Given the description of an element on the screen output the (x, y) to click on. 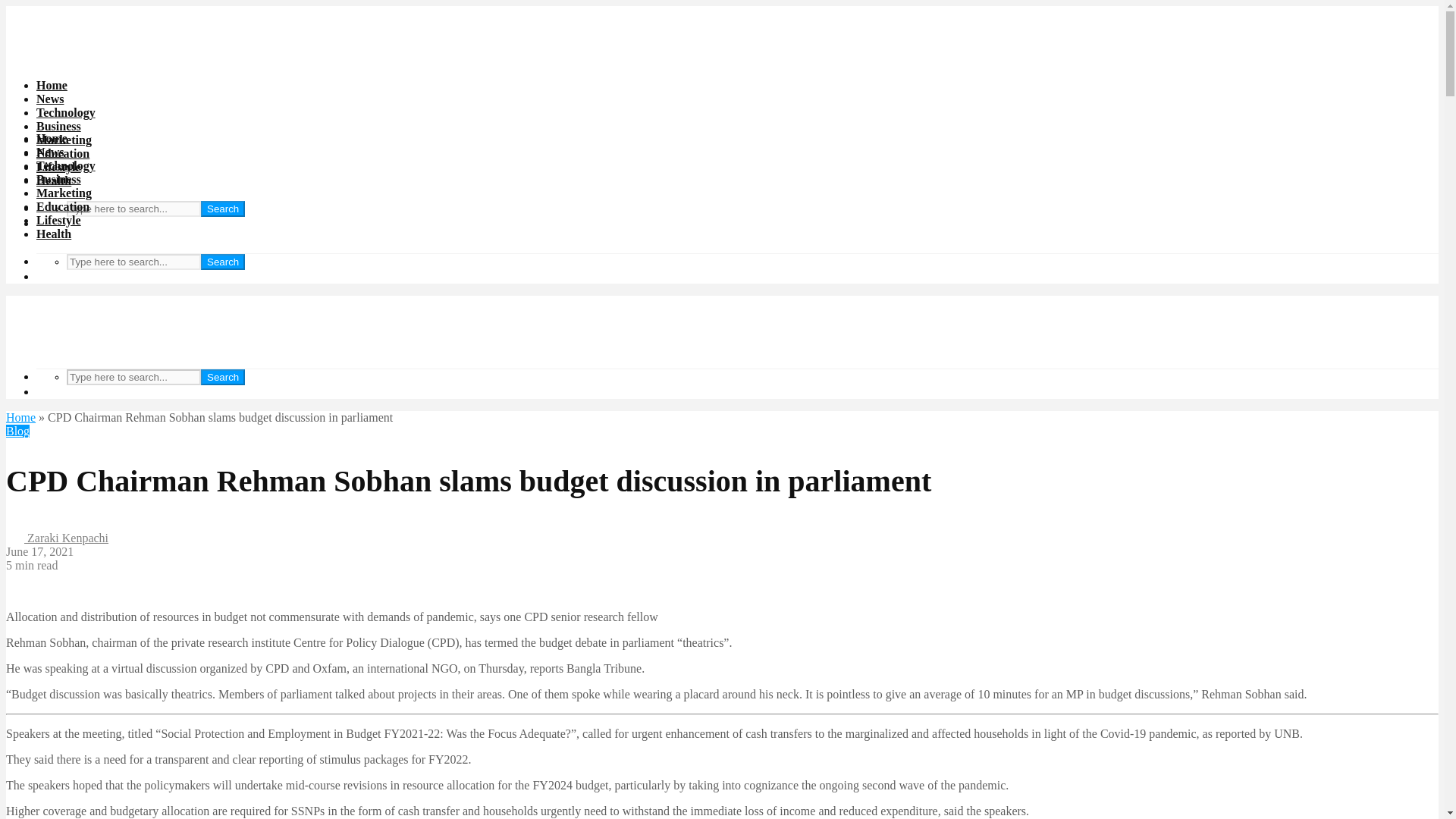
Home (19, 417)
Lifestyle (58, 166)
Home (51, 137)
Business (58, 125)
Marketing (63, 139)
Technology (66, 112)
Health (53, 180)
Home (51, 84)
Search (222, 208)
Technology (66, 164)
News (50, 151)
News (50, 98)
Marketing (63, 192)
Blog (17, 431)
Education (62, 205)
